Given the description of an element on the screen output the (x, y) to click on. 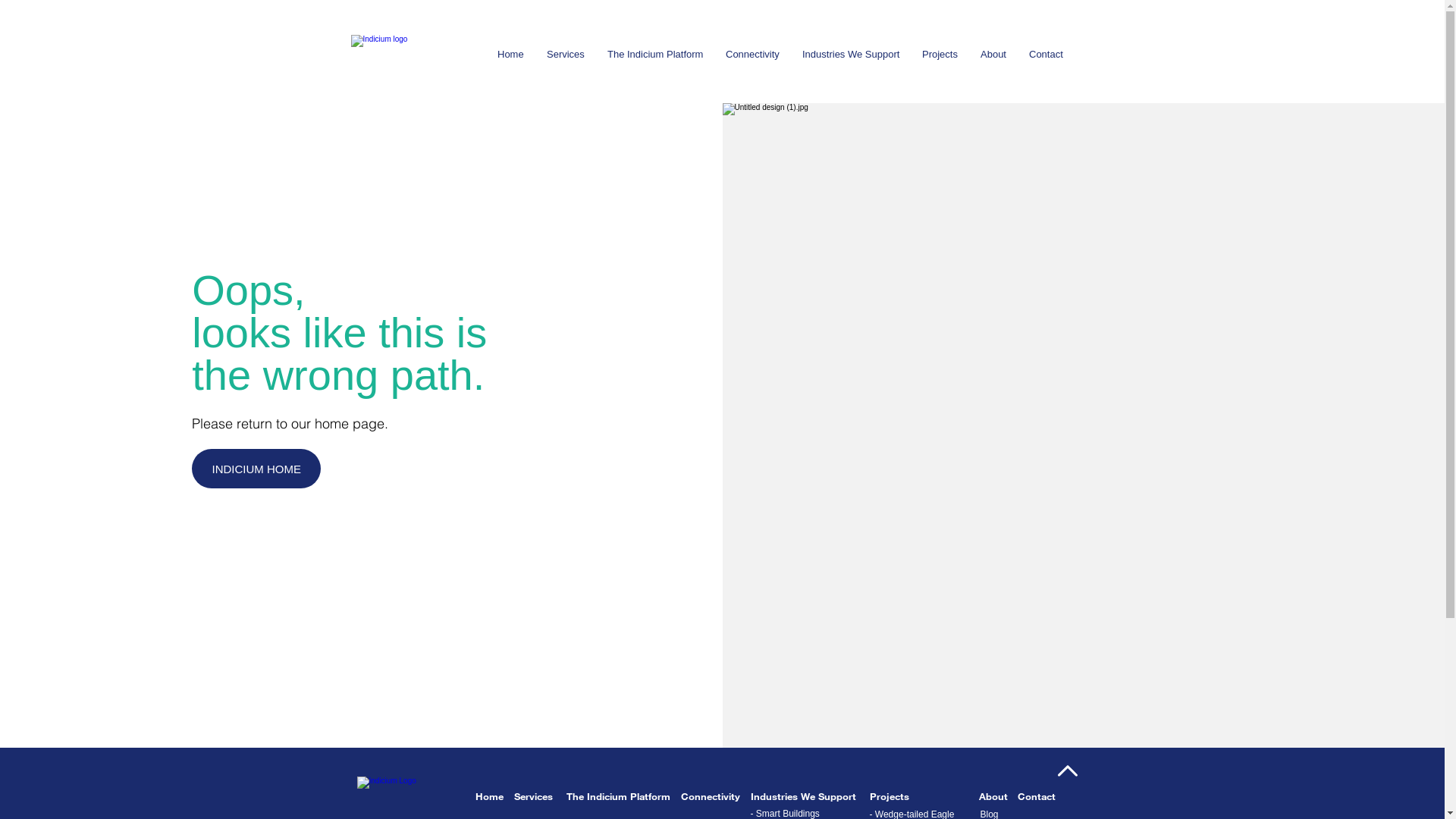
Home Element type: text (488, 796)
Industries We Support Element type: text (803, 796)
About Element type: text (992, 796)
Projects Element type: text (939, 53)
Industries We Support Element type: text (850, 53)
Services Element type: text (533, 796)
Contact Element type: text (1036, 796)
Services Element type: text (565, 53)
Home Element type: text (510, 53)
Connectivity Element type: text (710, 796)
Contact Element type: text (1045, 53)
Connectivity Element type: text (752, 53)
The Indicium Platform Element type: text (617, 796)
About Element type: text (993, 53)
The Indicium Platform Element type: text (655, 53)
Projects Element type: text (888, 796)
INDICIUM HOME Element type: text (255, 468)
